Given the description of an element on the screen output the (x, y) to click on. 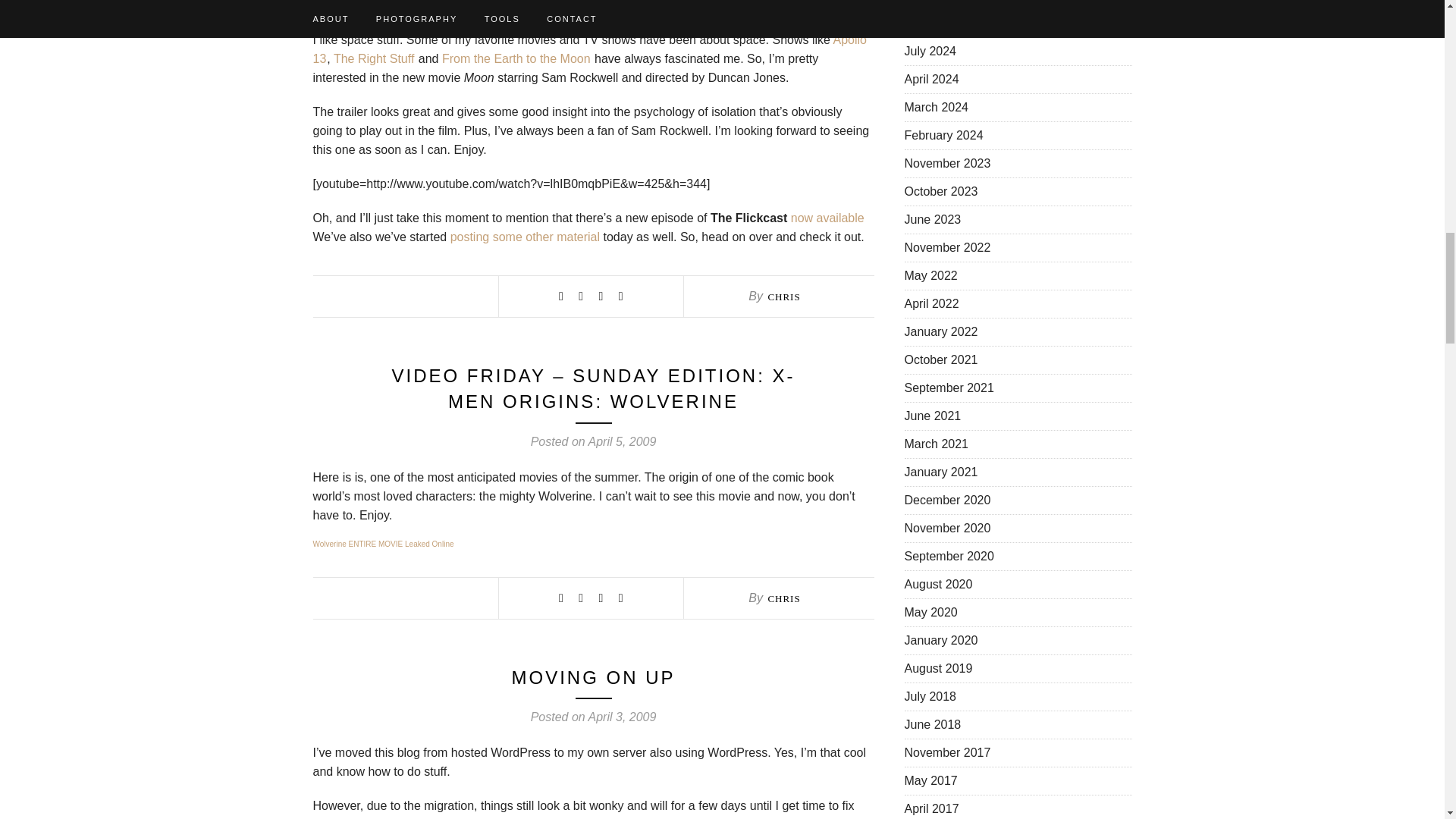
The Right Stuff (373, 58)
From the Earth to the Moon (516, 58)
posting some other material (524, 236)
Posts by Chris (783, 296)
Posts by Chris (783, 598)
from WolverineMovie (382, 543)
Wolverine ENTIRE MOVIE Leaked Online (382, 543)
Apollo 13 (589, 49)
now available (827, 217)
CHRIS (783, 296)
